Given the description of an element on the screen output the (x, y) to click on. 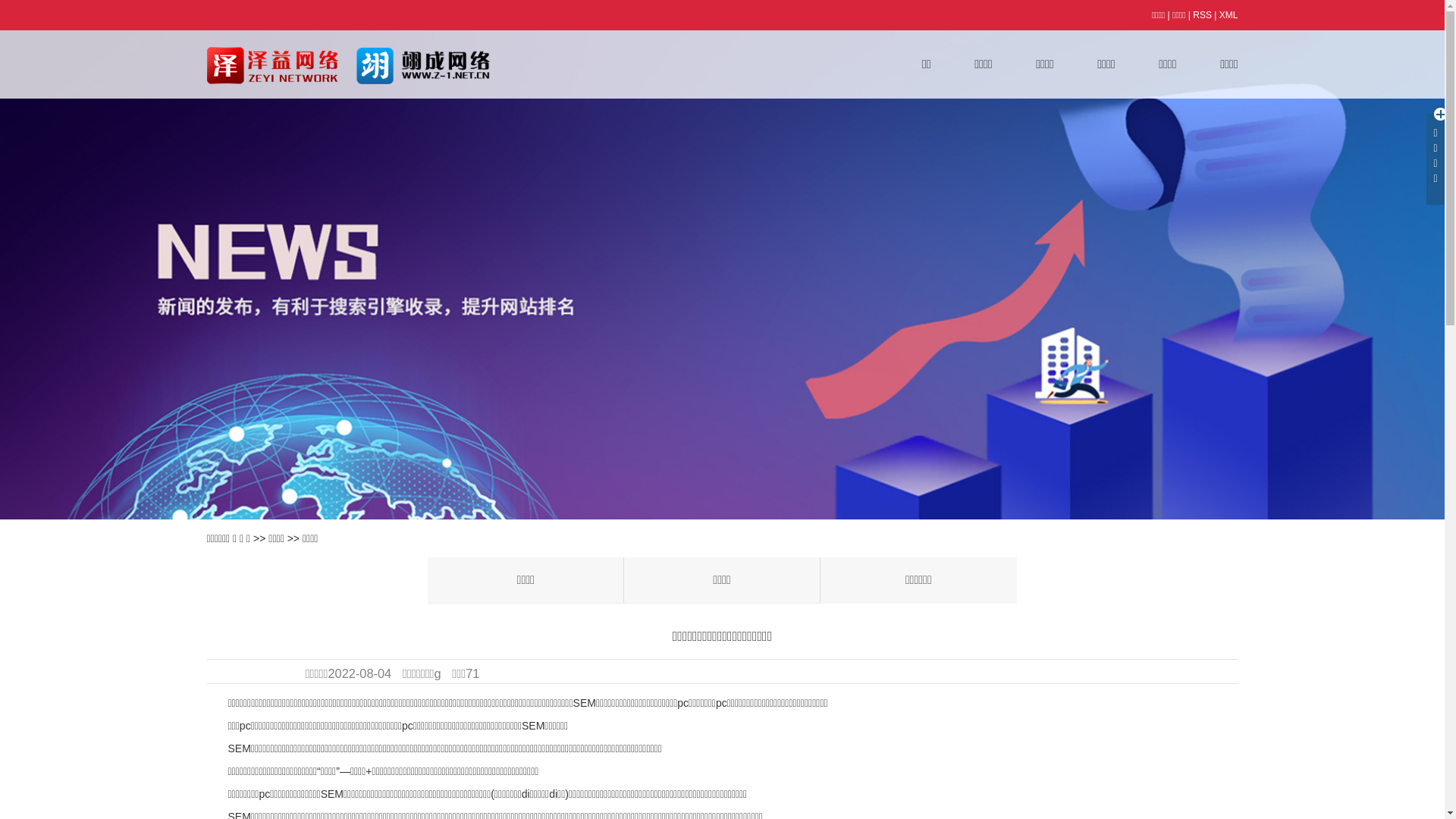
XML Element type: text (1228, 14)
RSS Element type: text (1201, 14)
